Given the description of an element on the screen output the (x, y) to click on. 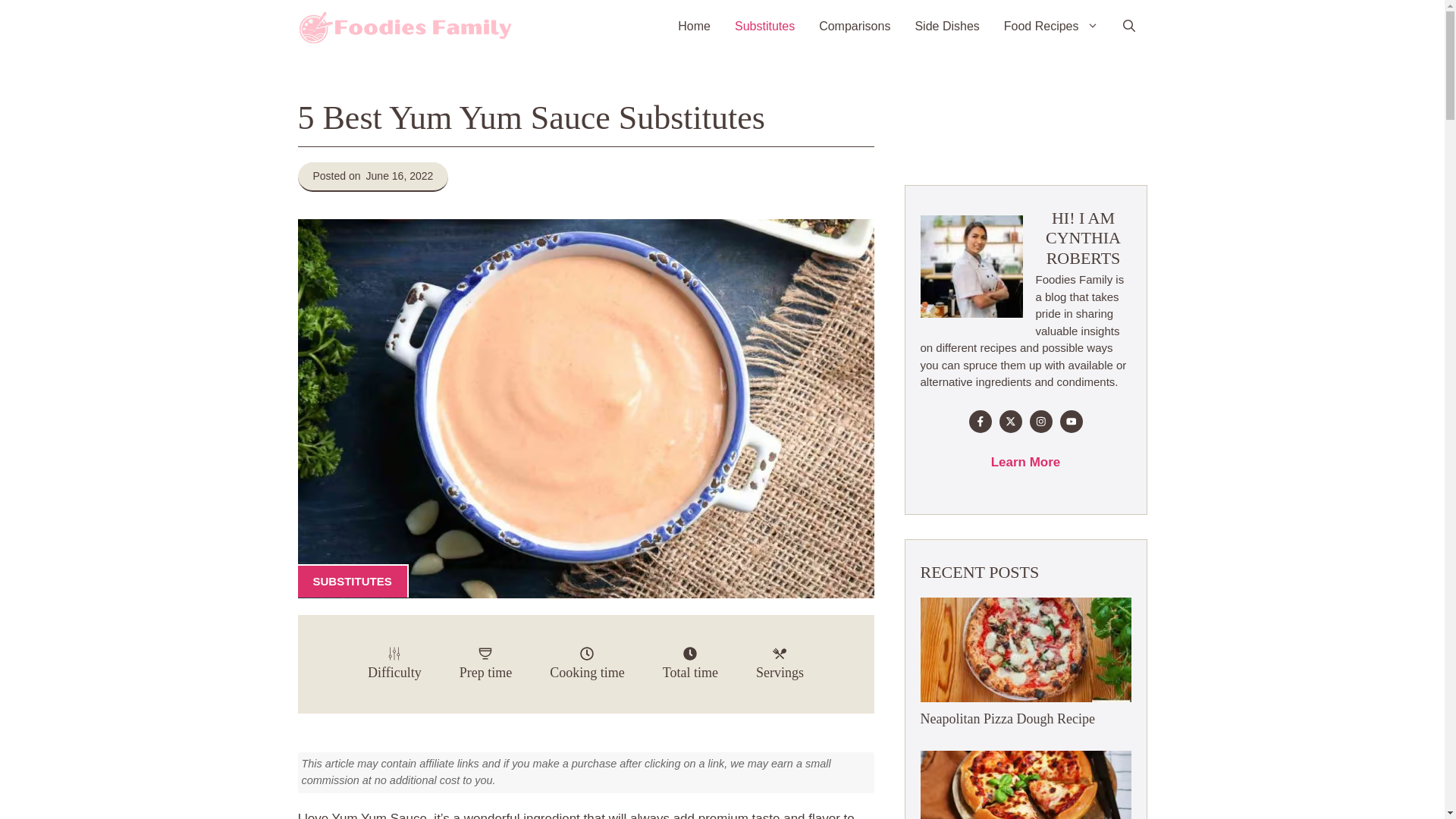
Food Recipes (1050, 26)
Foodies Family (405, 26)
SUBSTITUTES (352, 581)
Side Dishes (946, 26)
Substitutes (764, 26)
Comparisons (854, 26)
Home (693, 26)
